Given the description of an element on the screen output the (x, y) to click on. 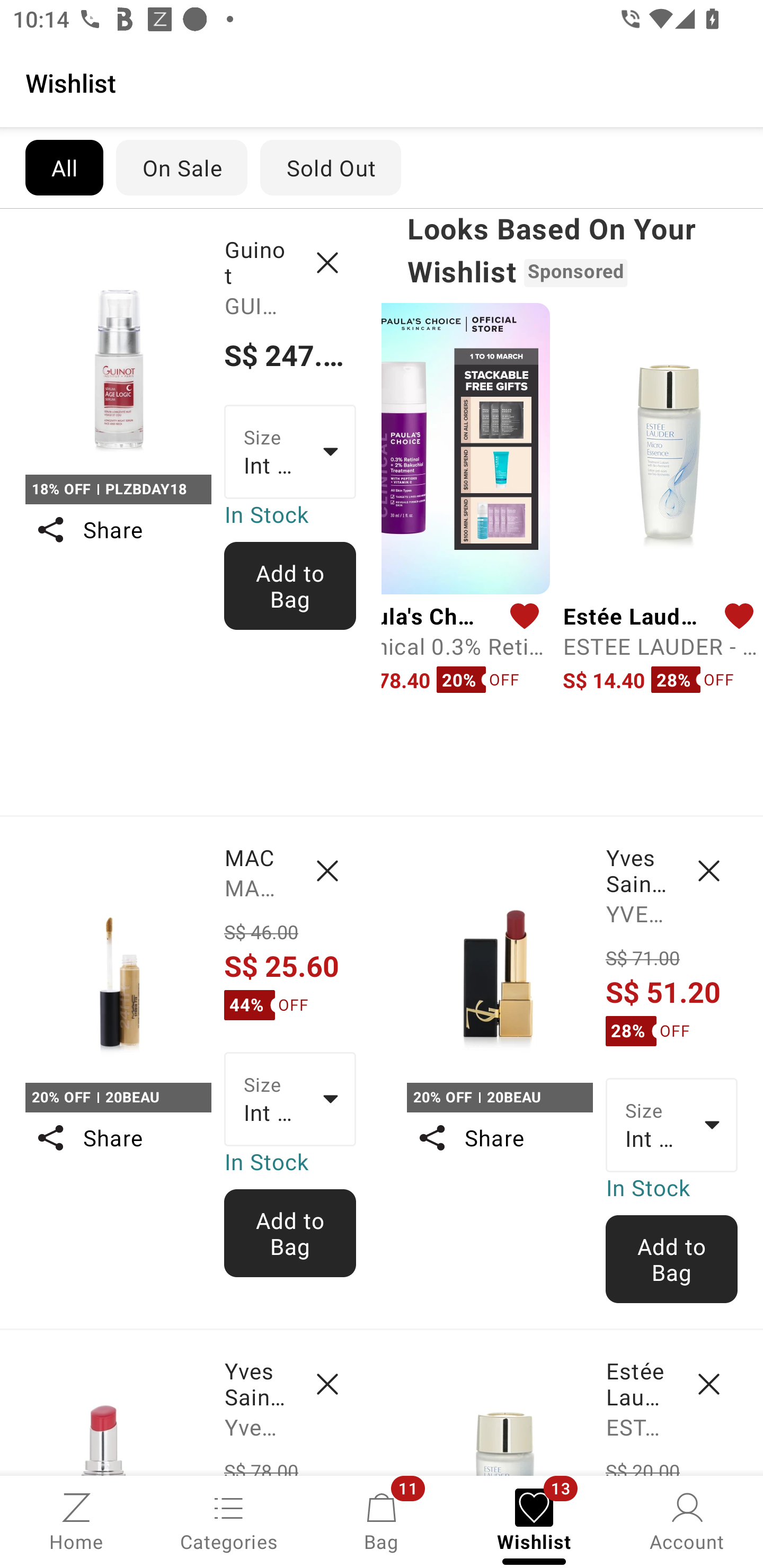
Wishlist (381, 82)
All (64, 167)
On Sale (181, 167)
Sold Out (330, 167)
Size Int One Size (290, 451)
Share (118, 529)
Add to Bag (290, 586)
Size Int One Size (290, 1099)
Size Int One Size (671, 1125)
Share (118, 1137)
Share (499, 1137)
Add to Bag (290, 1232)
Add to Bag (671, 1259)
Home (76, 1519)
Categories (228, 1519)
Bag, 11 new notifications Bag (381, 1519)
Account (686, 1519)
